Given the description of an element on the screen output the (x, y) to click on. 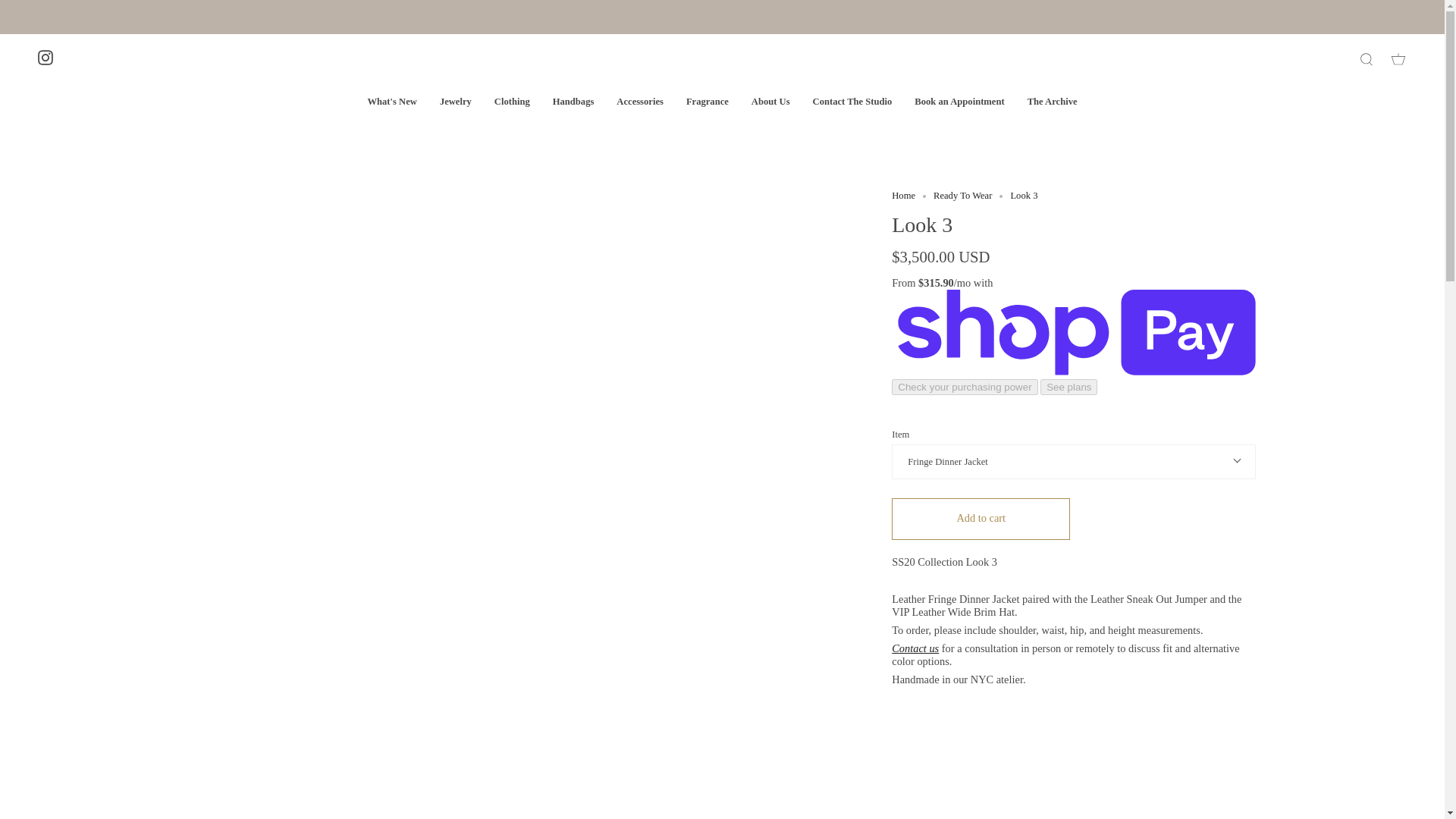
Accessories (640, 101)
What's New (391, 101)
Handbags (573, 101)
About Us (770, 101)
The Archive (1052, 101)
Clothing (512, 101)
Contact The Studio (853, 101)
Book an Appointment (958, 101)
Jewelry (455, 101)
Fragrance (707, 101)
